Given the description of an element on the screen output the (x, y) to click on. 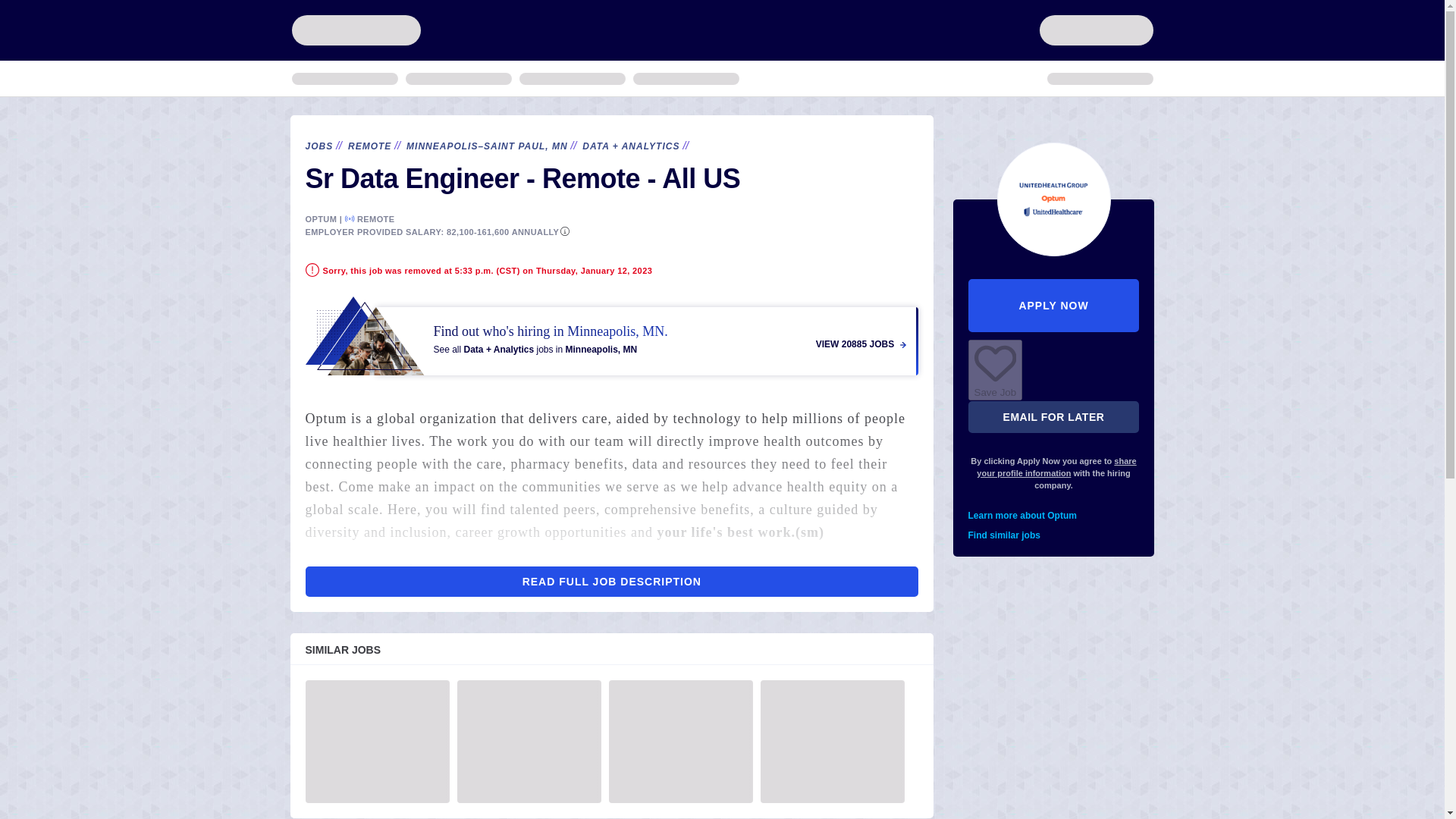
Learn more about Optum (1054, 516)
REMOTE (369, 146)
View 20885 Jobs (611, 335)
share your profile information (1055, 466)
VIEW 20885 JOBS (860, 344)
JOBS (318, 146)
Find similar jobs (1054, 535)
OPTUM (320, 218)
